Given the description of an element on the screen output the (x, y) to click on. 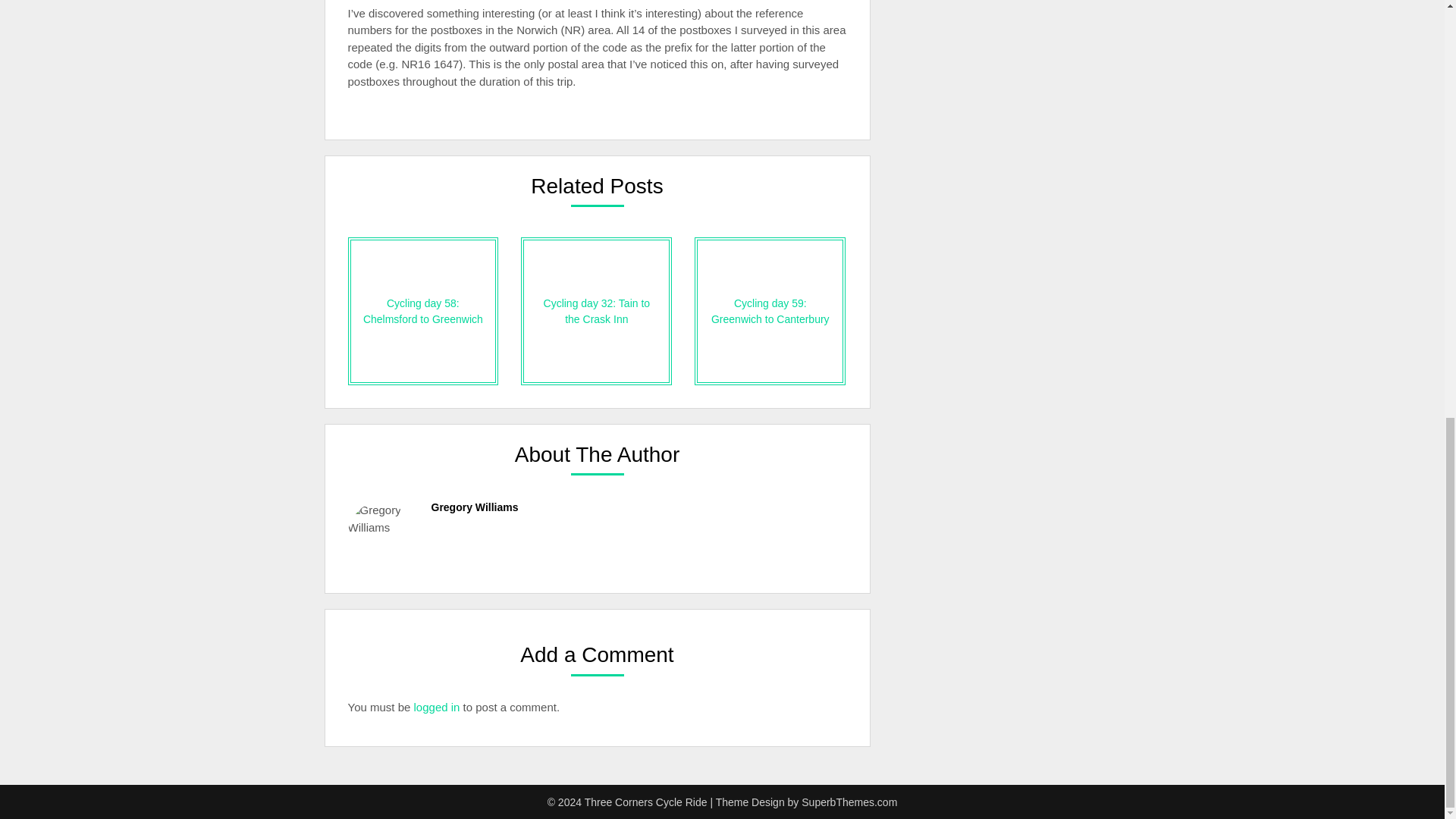
Cycling day 32: Tain to the Crask Inn (596, 310)
Cycling day 59: Greenwich to Canterbury (769, 310)
Cycling day 58: Chelmsford to Greenwich (422, 310)
Cycling day 58: Chelmsford to Greenwich (422, 310)
logged in (436, 707)
Cycling day 32: Tain to the Crask Inn (596, 310)
SuperbThemes.com (849, 802)
Cycling day 59: Greenwich to Canterbury (769, 310)
